Given the description of an element on the screen output the (x, y) to click on. 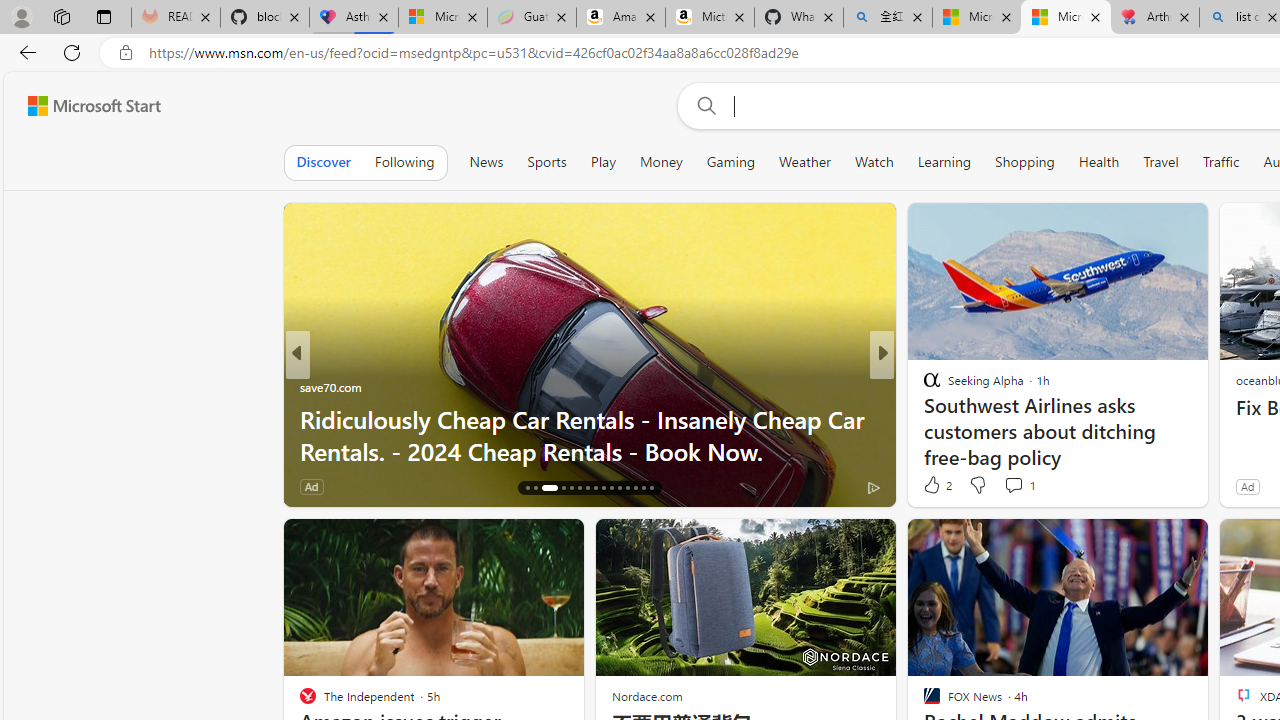
AutomationID: tab-22 (586, 487)
Marie Claire UK (923, 386)
Learning (944, 162)
save70.com (330, 386)
View comments 7 Comment (1019, 485)
Business Insider (923, 386)
View comments 25 Comment (1022, 486)
AutomationID: tab-16 (527, 487)
Learning (944, 161)
